Given the description of an element on the screen output the (x, y) to click on. 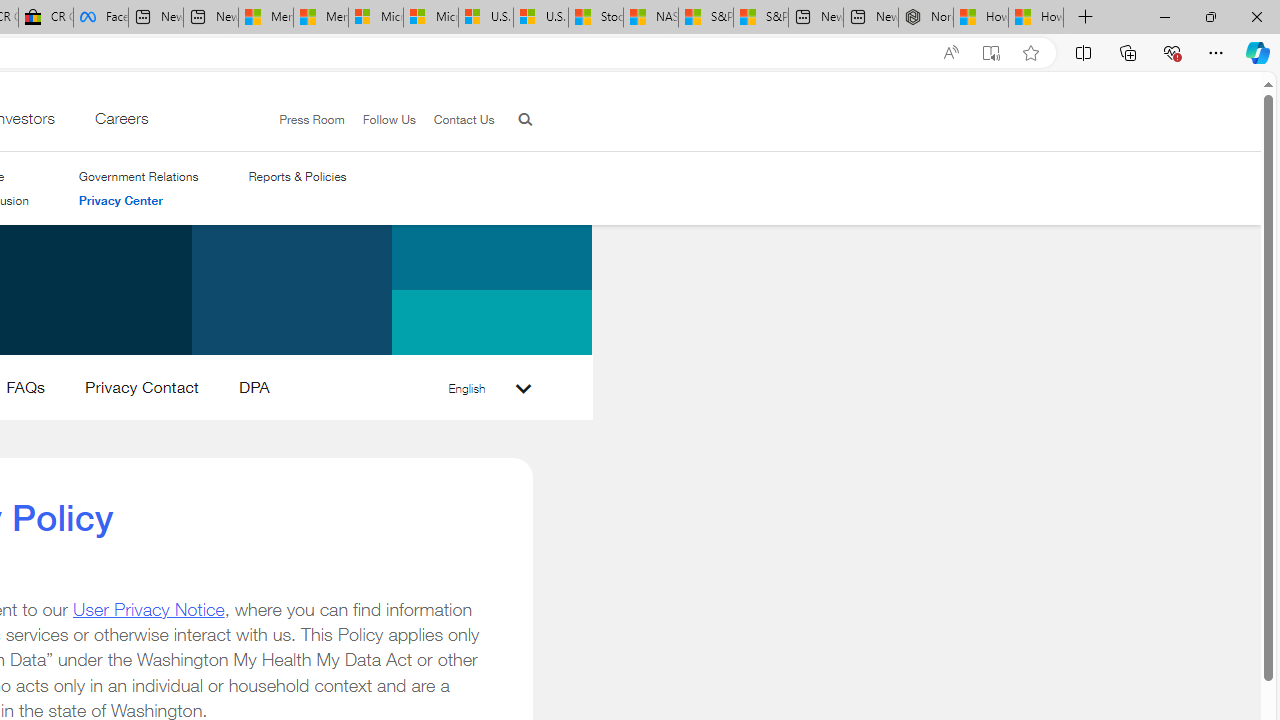
Contact Us (454, 120)
Careers (120, 123)
Contact Us (463, 119)
User Privacy Notice (148, 608)
Government Relations (138, 176)
DPA (254, 391)
Enter Immersive Reader (F9) (991, 53)
Privacy Center (138, 201)
